Given the description of an element on the screen output the (x, y) to click on. 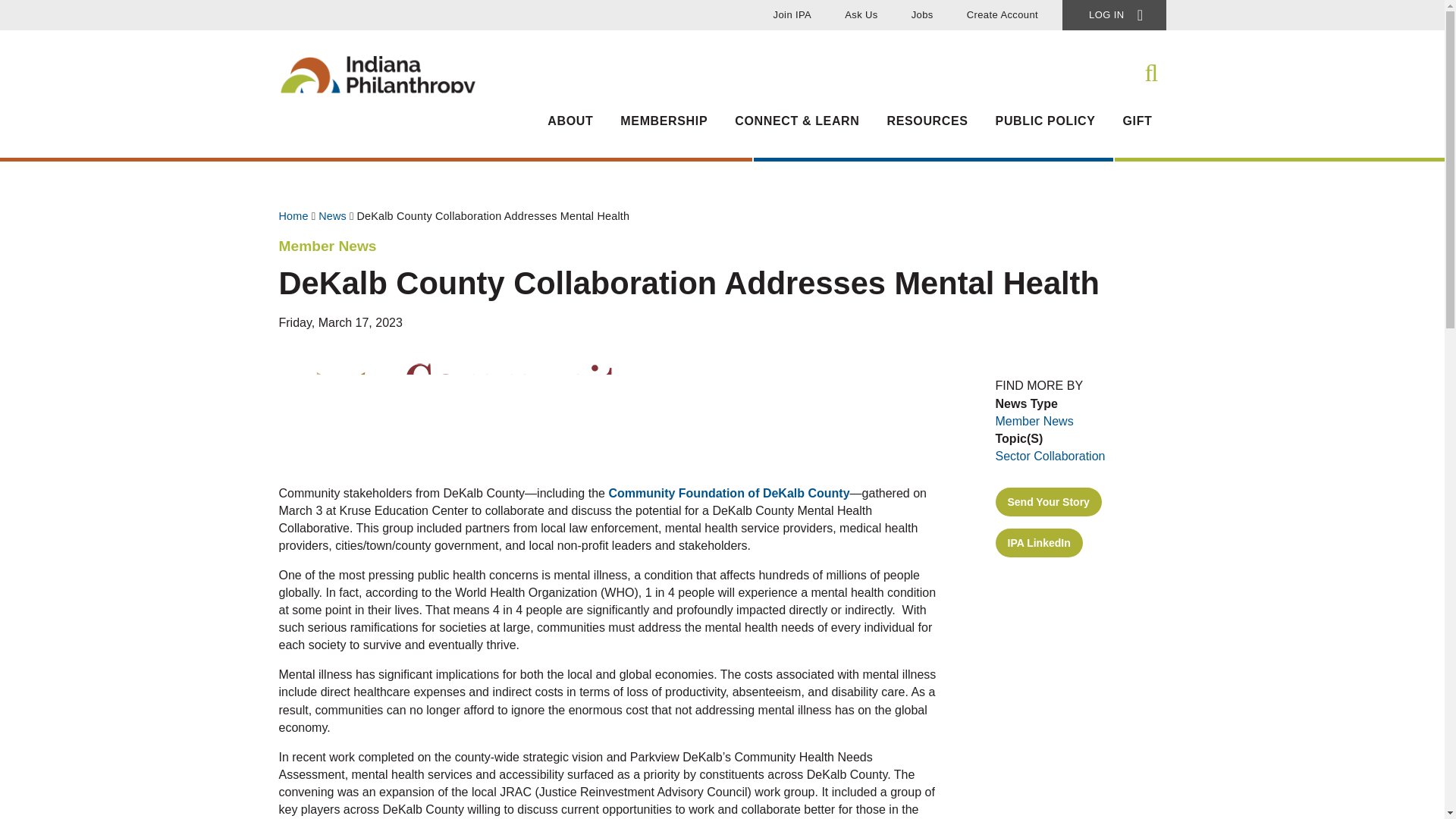
ABOUT (570, 128)
LOG IN (1114, 15)
Home (377, 139)
MEMBERSHIP (663, 128)
Jobs (922, 15)
Create Account (1002, 15)
Join IPA (792, 15)
RESOURCES (926, 128)
Ask Us (861, 15)
